Given the description of an element on the screen output the (x, y) to click on. 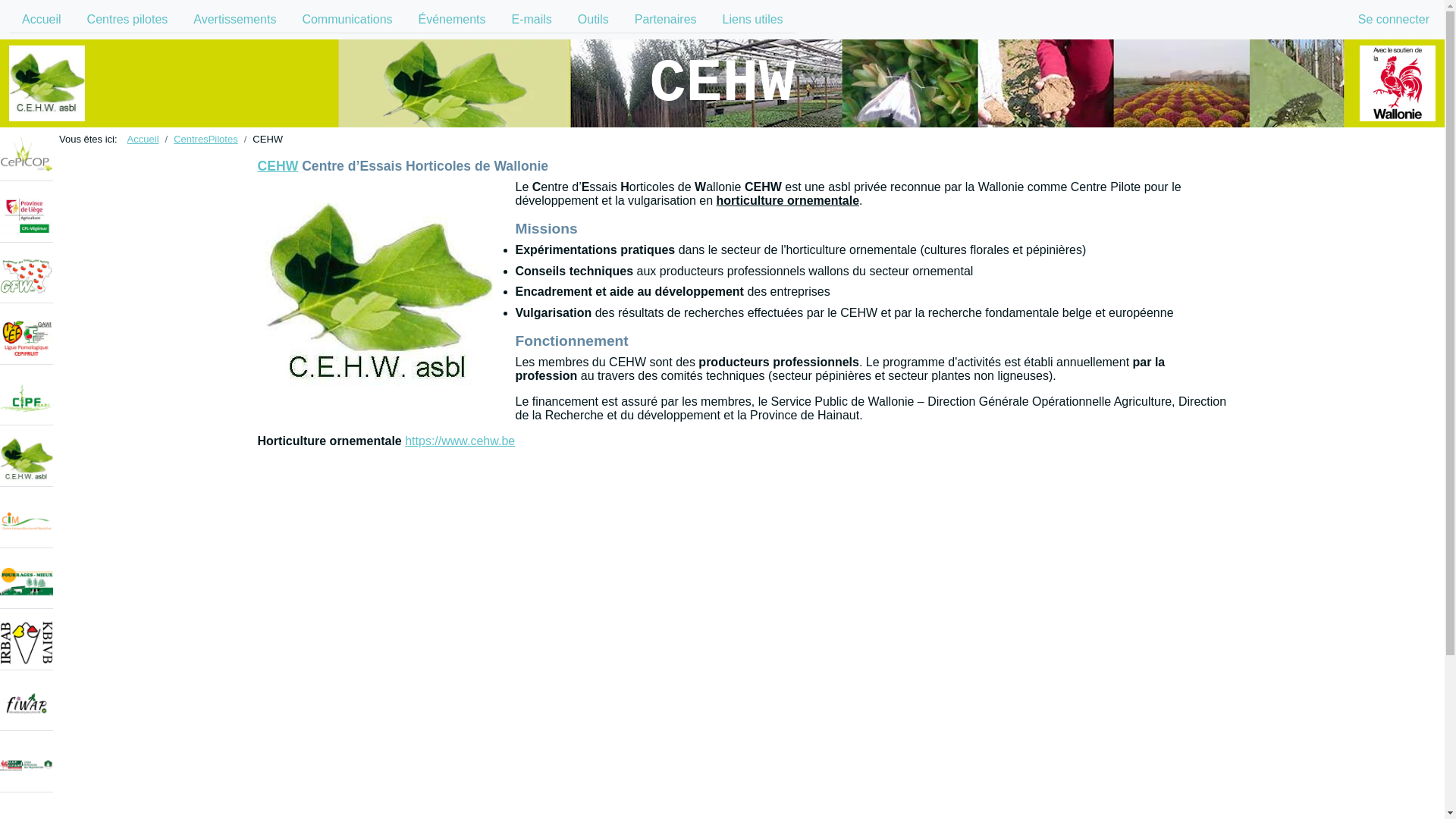
Centres pilotes Element type: text (127, 19)
Liens utiles Element type: text (752, 19)
Communications Element type: text (346, 19)
Partenaires Element type: text (665, 19)
CentresPilotes Element type: text (205, 138)
CEHW Element type: text (721, 82)
CEHW Element type: text (277, 165)
https://www.cehw.be Element type: text (459, 440)
Accueil Element type: text (41, 19)
Outils Element type: text (592, 19)
Se connecter Element type: text (1393, 19)
Wallonie Element type: hover (1397, 83)
Avertissements Element type: text (234, 19)
Accueil Element type: text (143, 138)
E-mails Element type: text (531, 19)
